Given the description of an element on the screen output the (x, y) to click on. 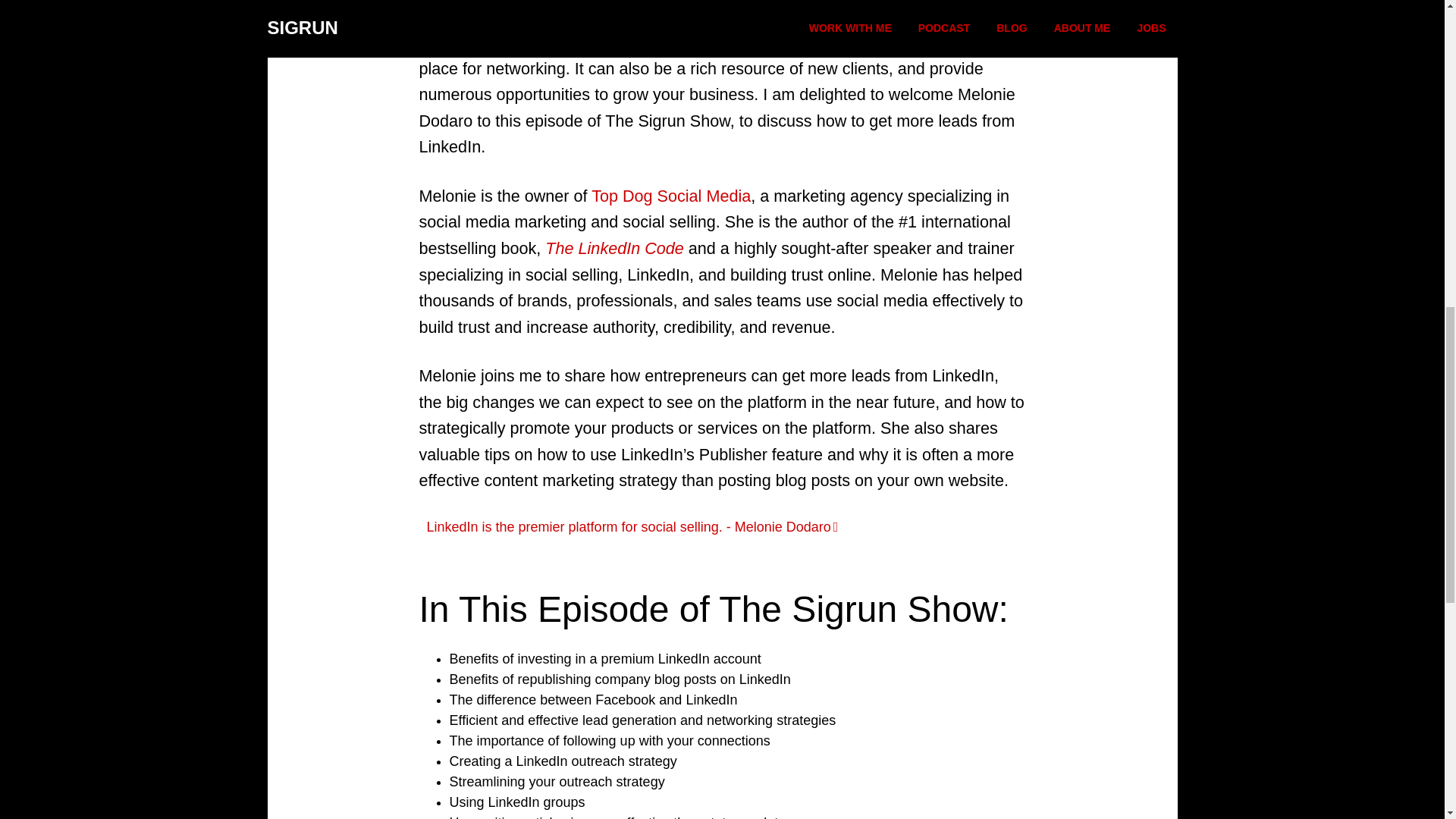
The LinkedIn Code (613, 248)
social media platforms (759, 41)
Top Dog Social Media (671, 195)
